Given the description of an element on the screen output the (x, y) to click on. 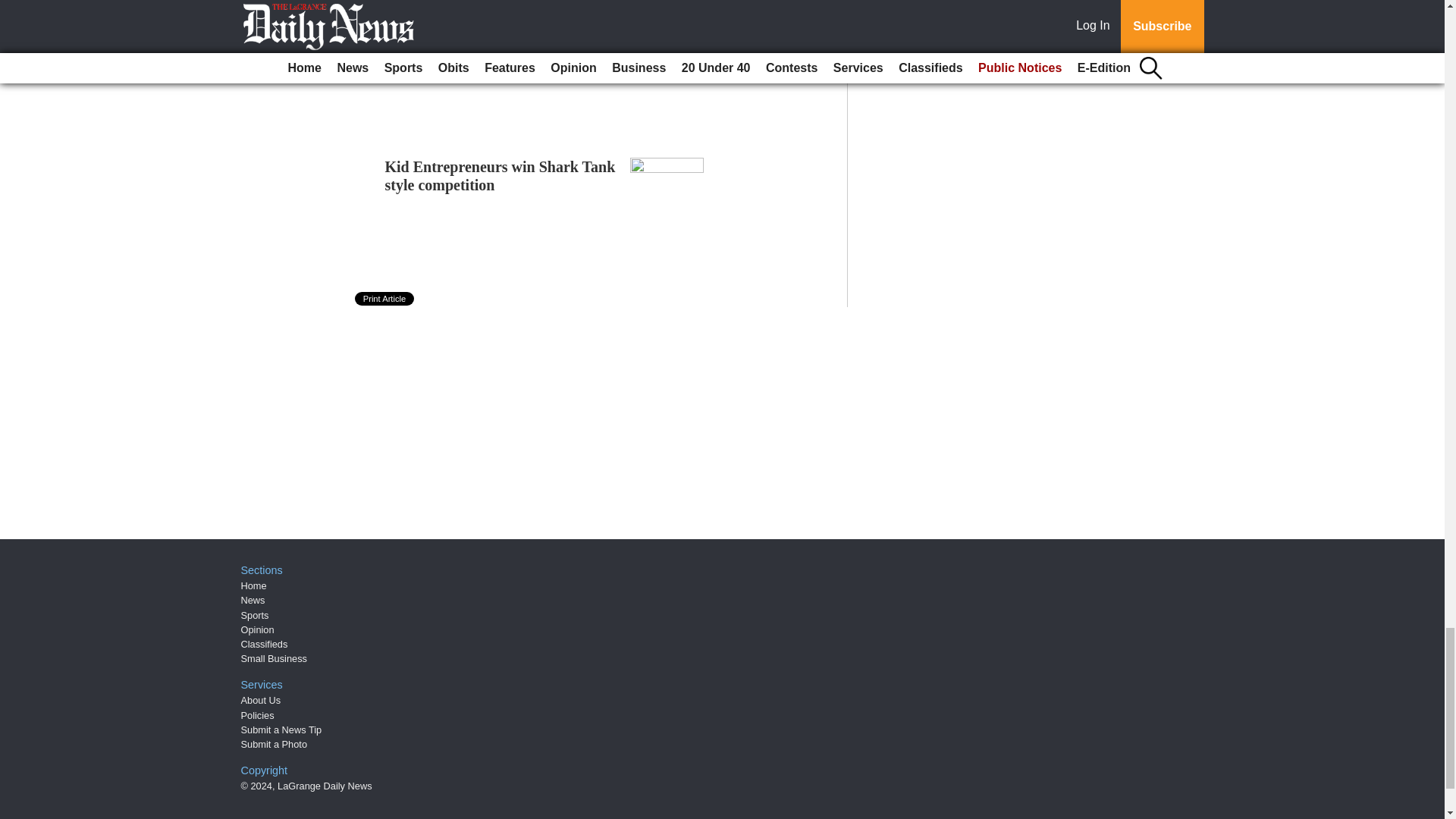
Kid Entrepreneurs win Shark Tank style competition (500, 175)
Kid Entrepreneurs win Shark Tank style competition (500, 175)
Print Article (384, 298)
